Given the description of an element on the screen output the (x, y) to click on. 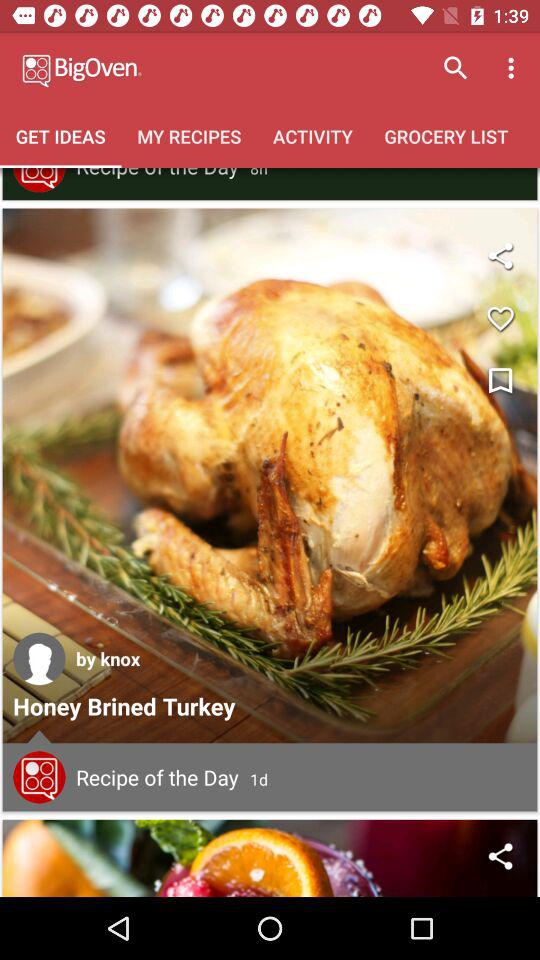
share (500, 856)
